Given the description of an element on the screen output the (x, y) to click on. 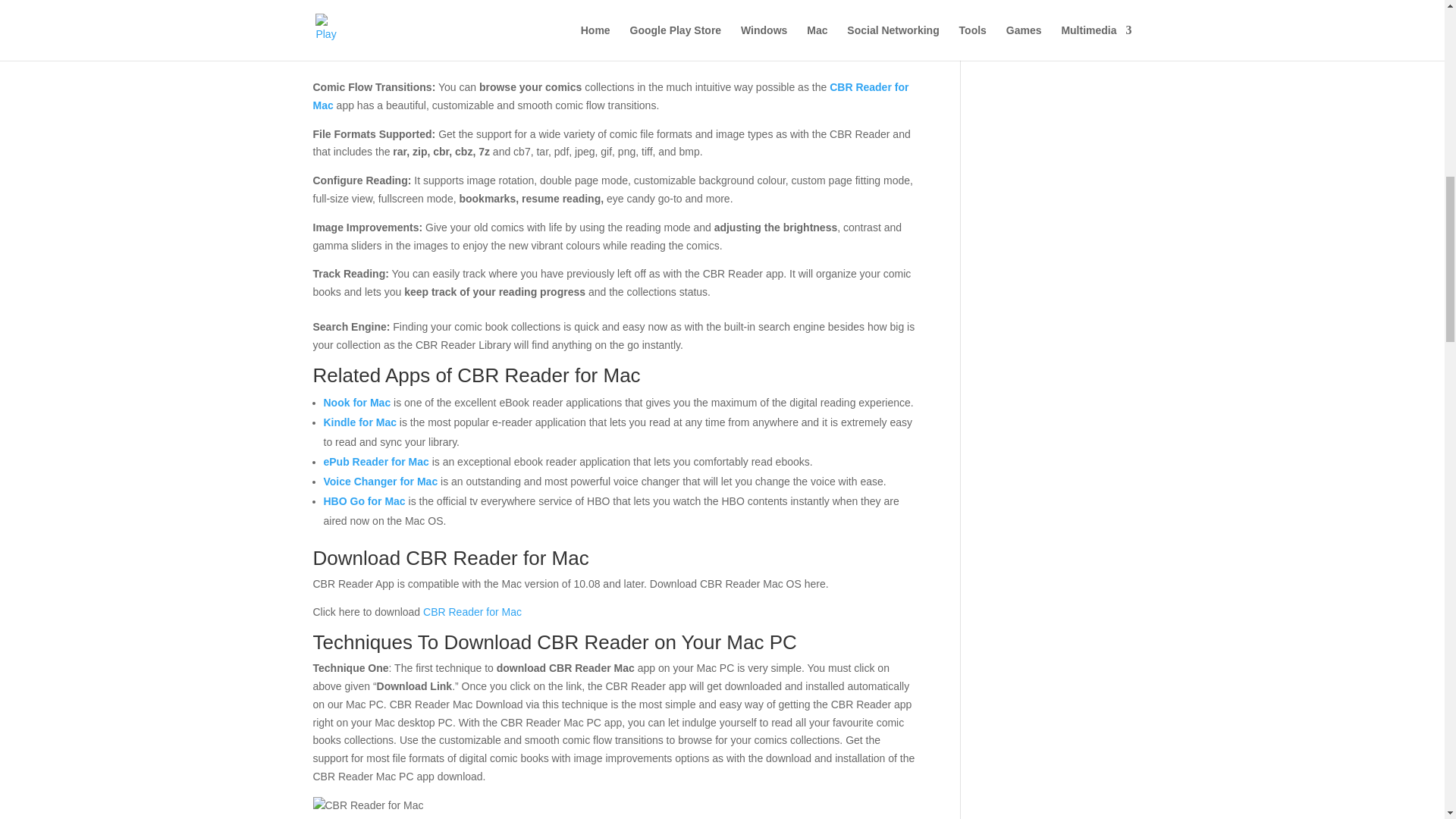
Kindle for Mac (359, 422)
CBR Reader for Mac (472, 612)
Nook for Mac (356, 402)
HBO Go for Mac (363, 500)
ePub Reader for Mac (375, 461)
CBR Reader for Mac (610, 96)
Voice Changer for Mac (380, 481)
